Given the description of an element on the screen output the (x, y) to click on. 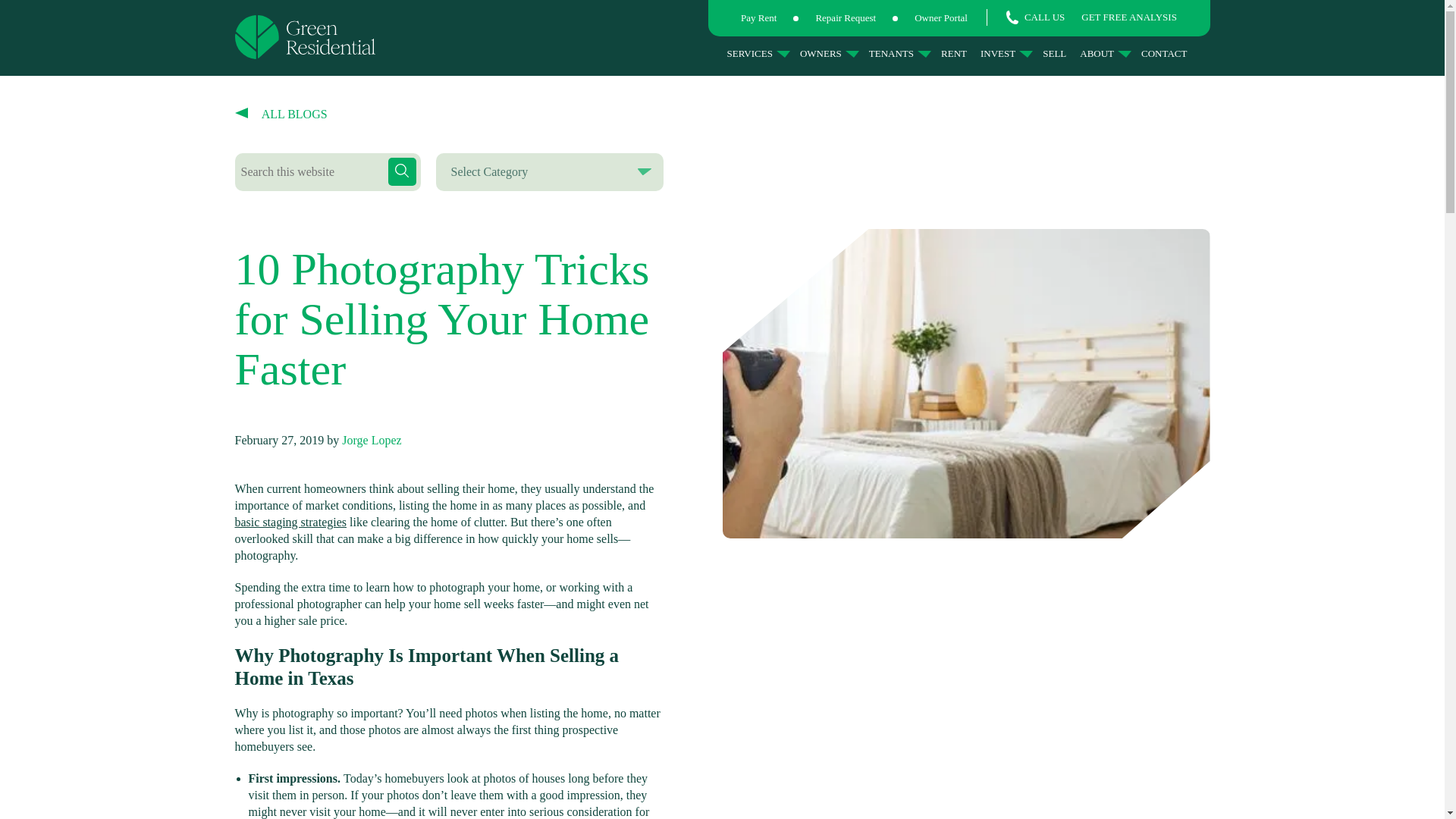
SERVICES (758, 53)
Repair Request (845, 17)
CALL US (1035, 17)
RENT (955, 53)
SELL (1056, 53)
Pay Rent (758, 17)
Owner Portal (941, 17)
GET FREE ANALYSIS (1128, 17)
OWNERS (829, 53)
TENANTS (900, 53)
INVEST (1005, 53)
